Given the description of an element on the screen output the (x, y) to click on. 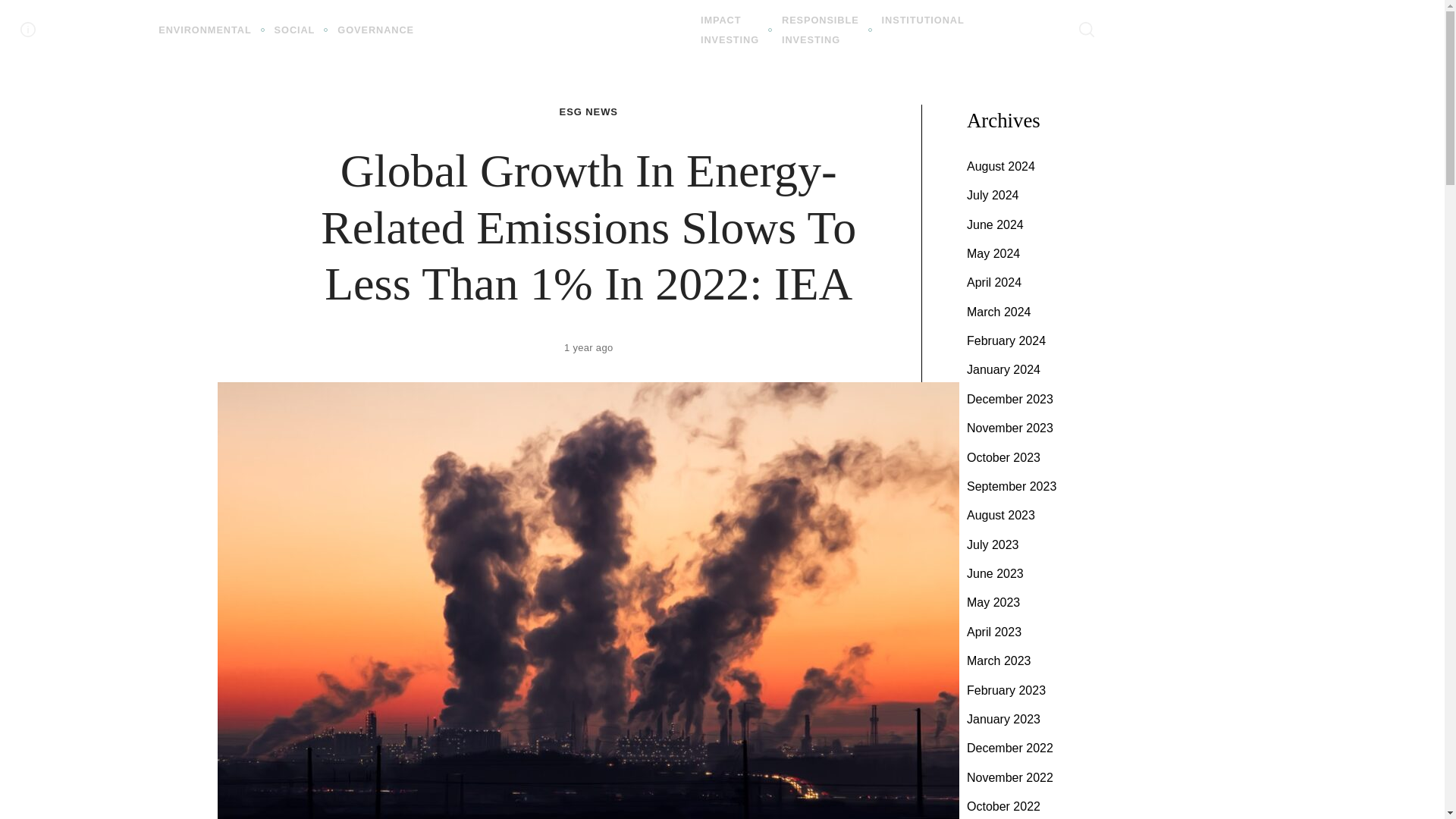
ESG INVESTING (820, 29)
INSTITUTIONAL (557, 28)
ESG NEWS (729, 29)
